Given the description of an element on the screen output the (x, y) to click on. 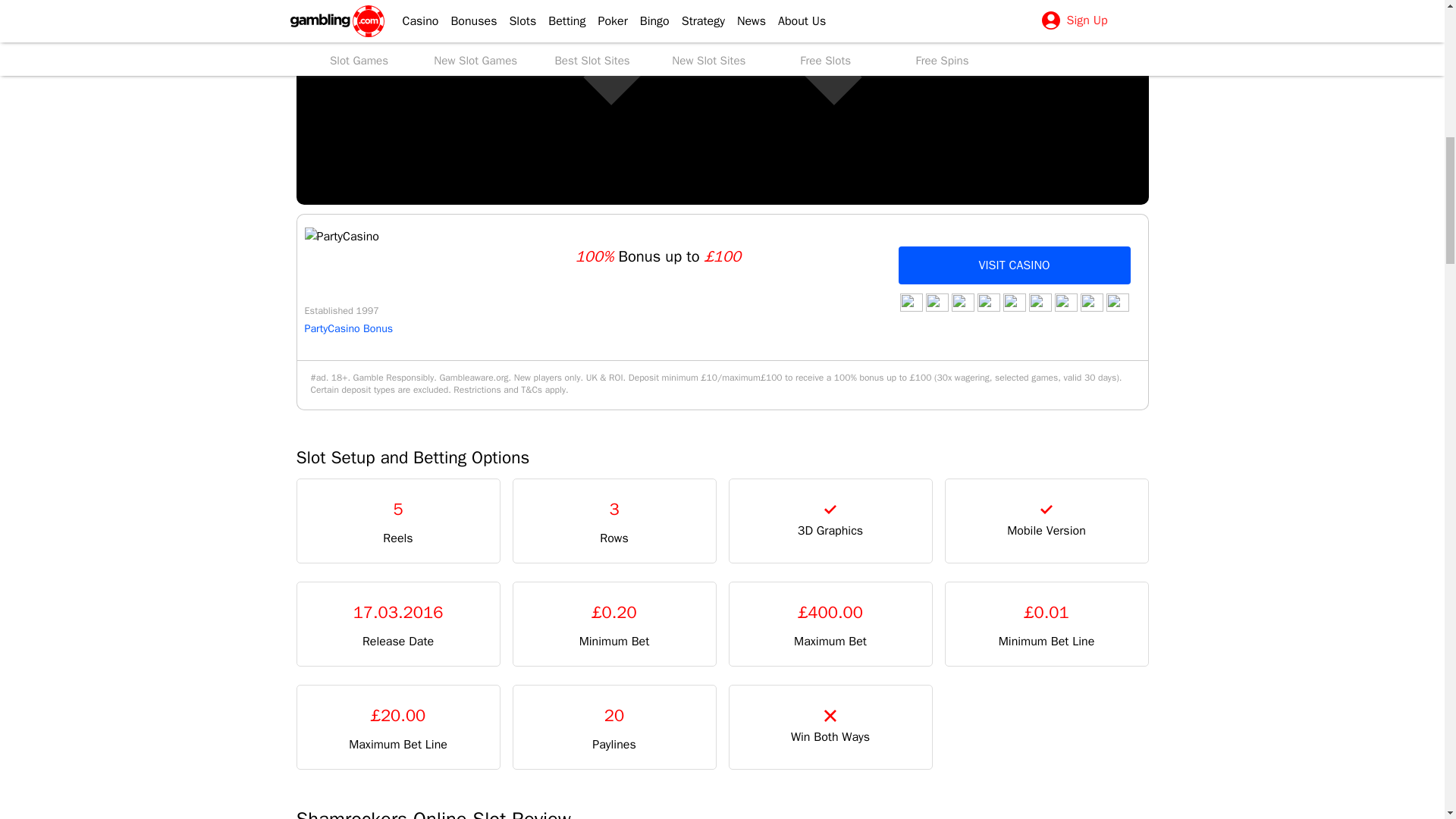
MasterCard (1091, 302)
Skrill (935, 302)
Paysafecard (910, 302)
Maestro (987, 302)
VISA (1039, 302)
PartyCasino (341, 237)
Visa Electron (1014, 302)
Google Pay (1116, 302)
NETELLER (962, 302)
Apple Pay (1065, 302)
